Given the description of an element on the screen output the (x, y) to click on. 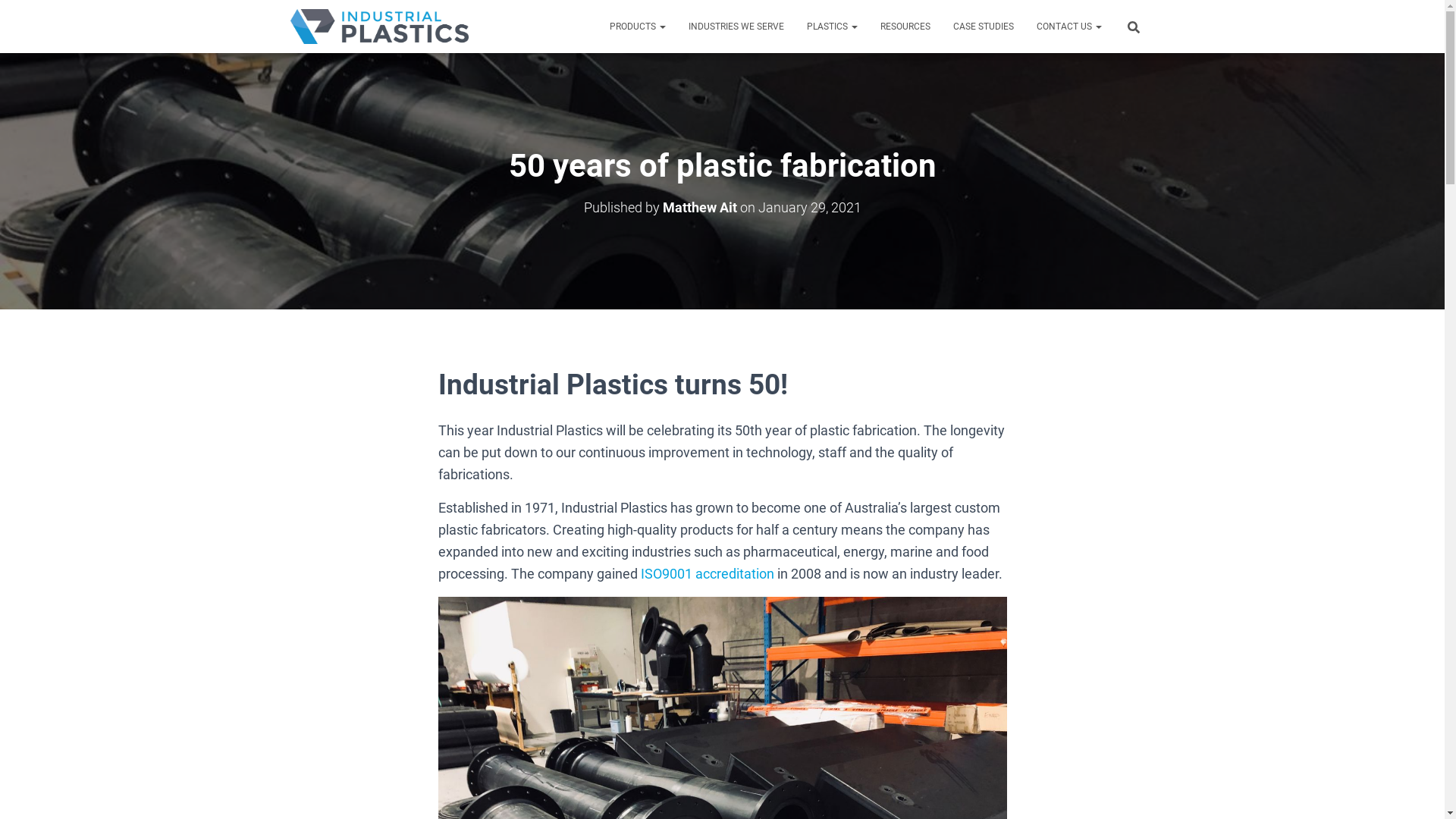
PLASTICS Element type: text (831, 26)
ISO9001 accreditation Element type: text (706, 573)
Search Element type: text (3, 16)
RESOURCES Element type: text (905, 26)
INDUSTRIES WE SERVE Element type: text (735, 26)
Matthew Ait Element type: text (699, 207)
Industrial Plastics Element type: hover (379, 26)
PRODUCTS Element type: text (636, 26)
CONTACT US Element type: text (1069, 26)
CASE STUDIES Element type: text (983, 26)
